Given the description of an element on the screen output the (x, y) to click on. 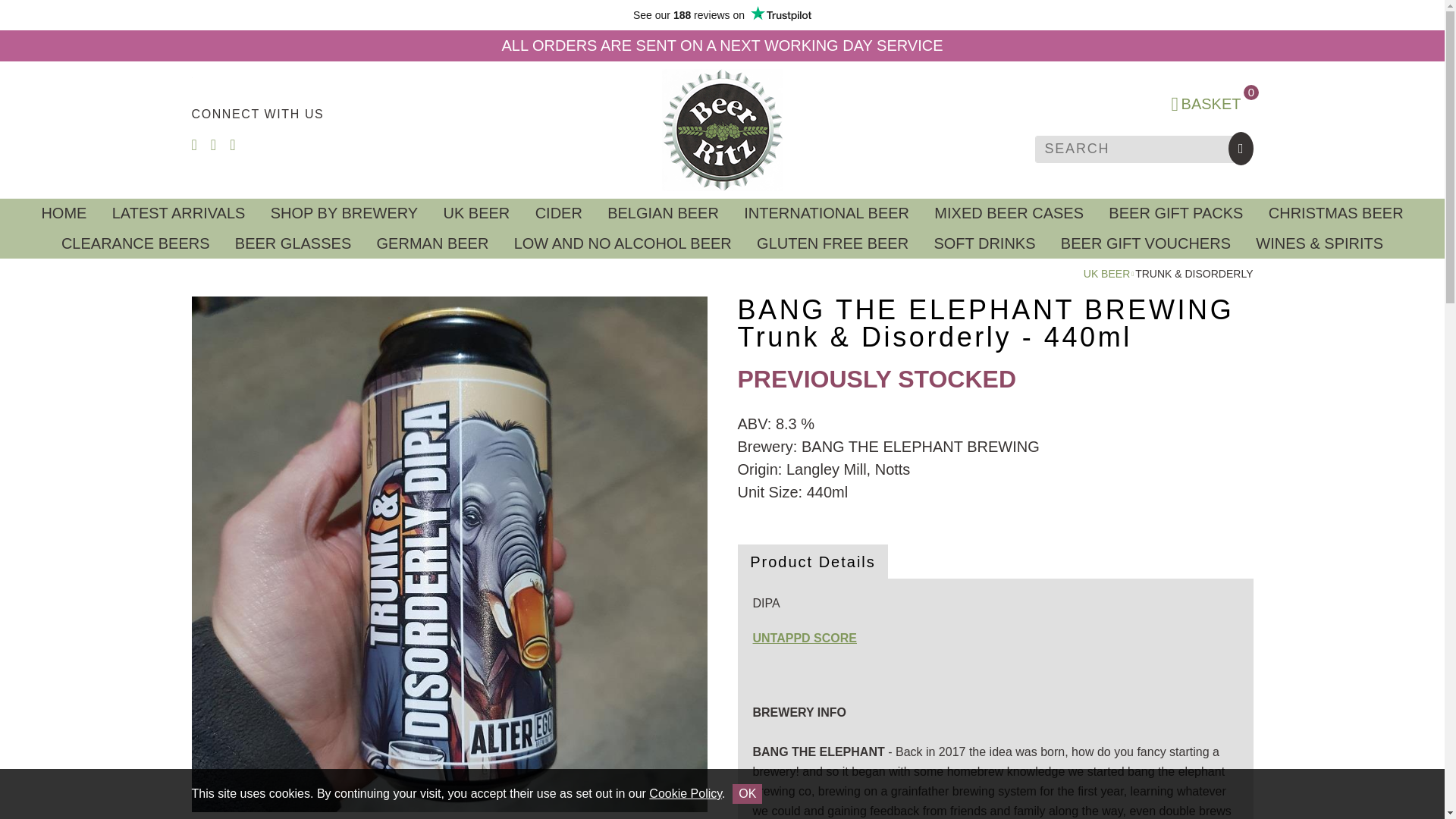
INTERNATIONAL BEER (826, 214)
UK BEER (1106, 273)
LOW AND NO ALCOHOL BEER (622, 243)
GERMAN BEER (432, 243)
HOME (64, 214)
SHOP BY BREWERY (343, 214)
BEER GIFT PACKS (1175, 214)
CHRISTMAS BEER (1335, 214)
UK BEER (476, 214)
BEER GLASSES (293, 243)
